Given the description of an element on the screen output the (x, y) to click on. 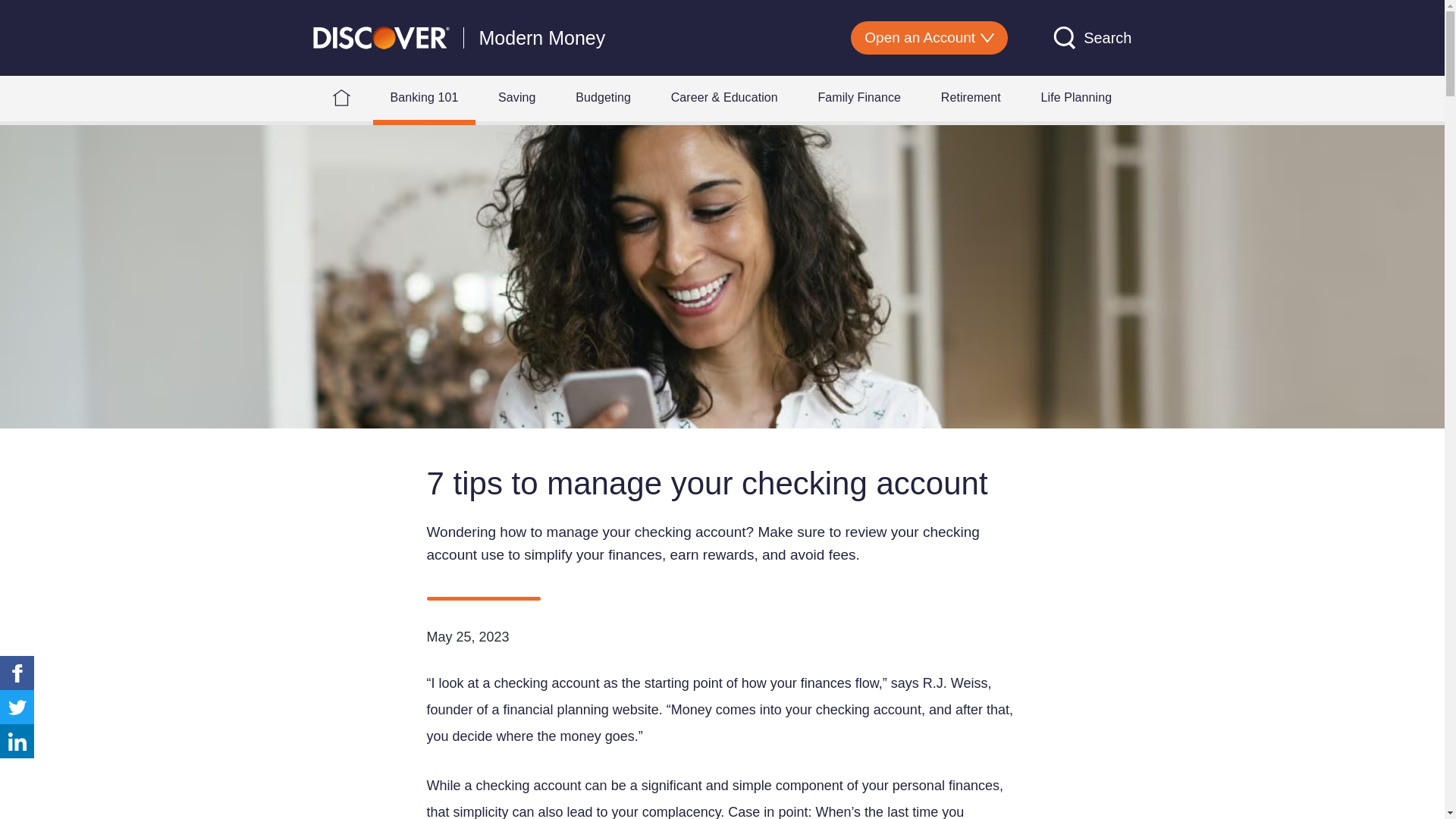
Banking 101 (424, 97)
Discover Logo (380, 37)
Life Planning (1076, 97)
Search (1091, 37)
Open an Account (928, 37)
Budgeting (602, 97)
Retirement (970, 97)
Family Finance (858, 97)
